Given the description of an element on the screen output the (x, y) to click on. 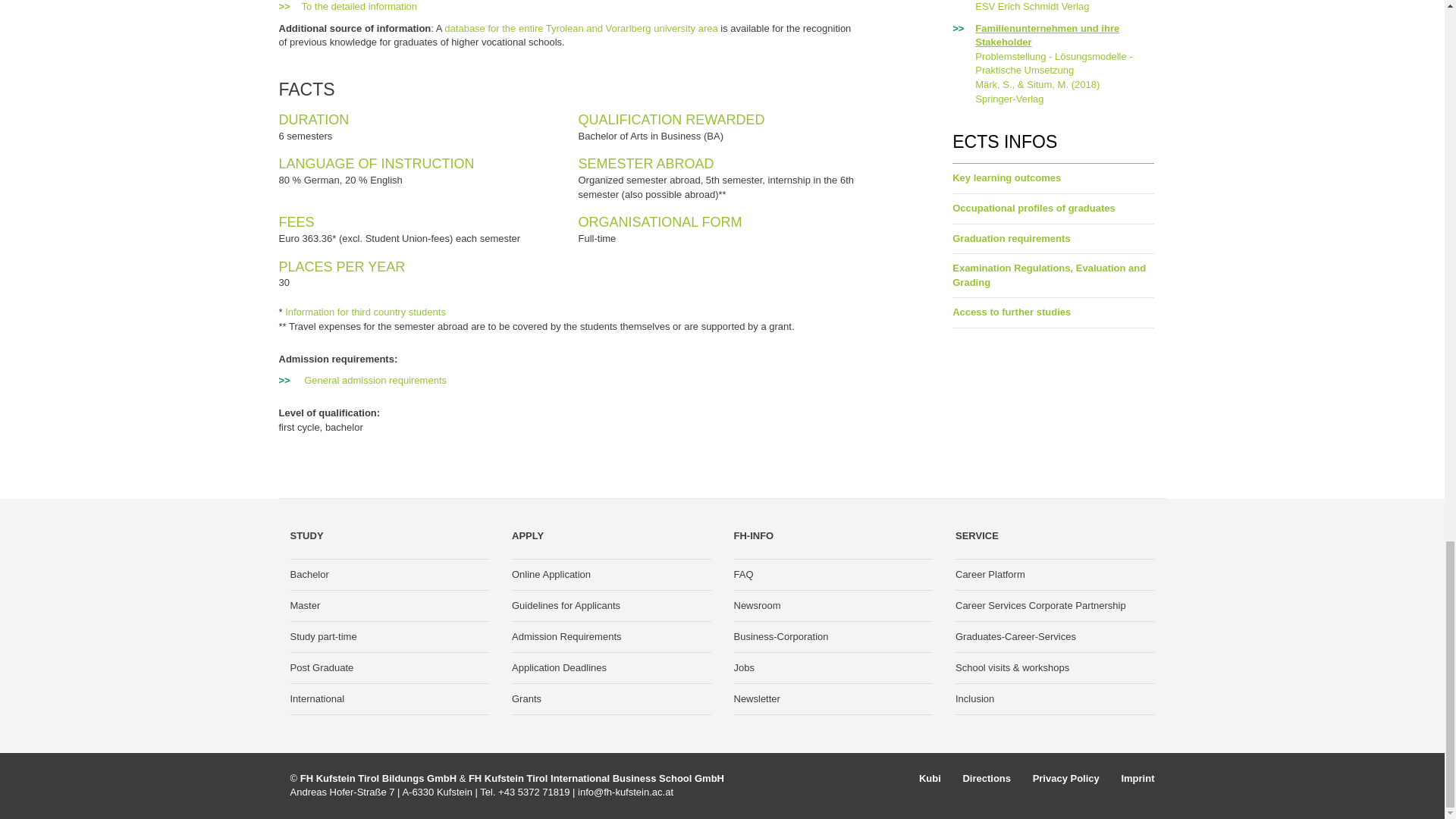
Imprint (1137, 778)
Directions (986, 778)
FH Kufstein Tirol Bildungs GmbH (378, 778)
FH Kufstein Tirol International Business School GmbH (595, 778)
undefined (580, 28)
undefined (559, 667)
Privacy Policy (1065, 778)
